Given the description of an element on the screen output the (x, y) to click on. 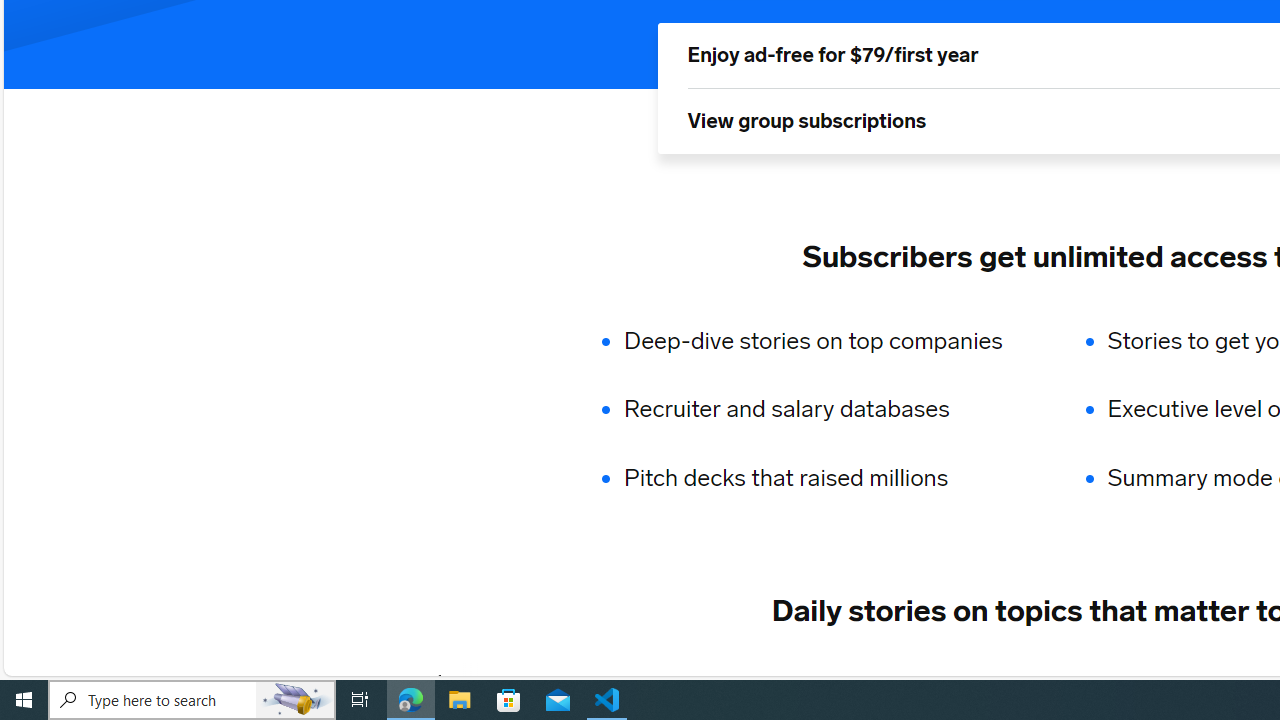
ADVERTISING (615, 681)
HEALTHCARE (1195, 681)
Pitch decks that raised millions (825, 478)
FINANCE (853, 681)
TECH (492, 681)
Deep-dive stories on top companies (825, 340)
PERSONAL FINANCE (1016, 681)
Recruiter and salary databases (825, 409)
RETAIL (744, 681)
